Given the description of an element on the screen output the (x, y) to click on. 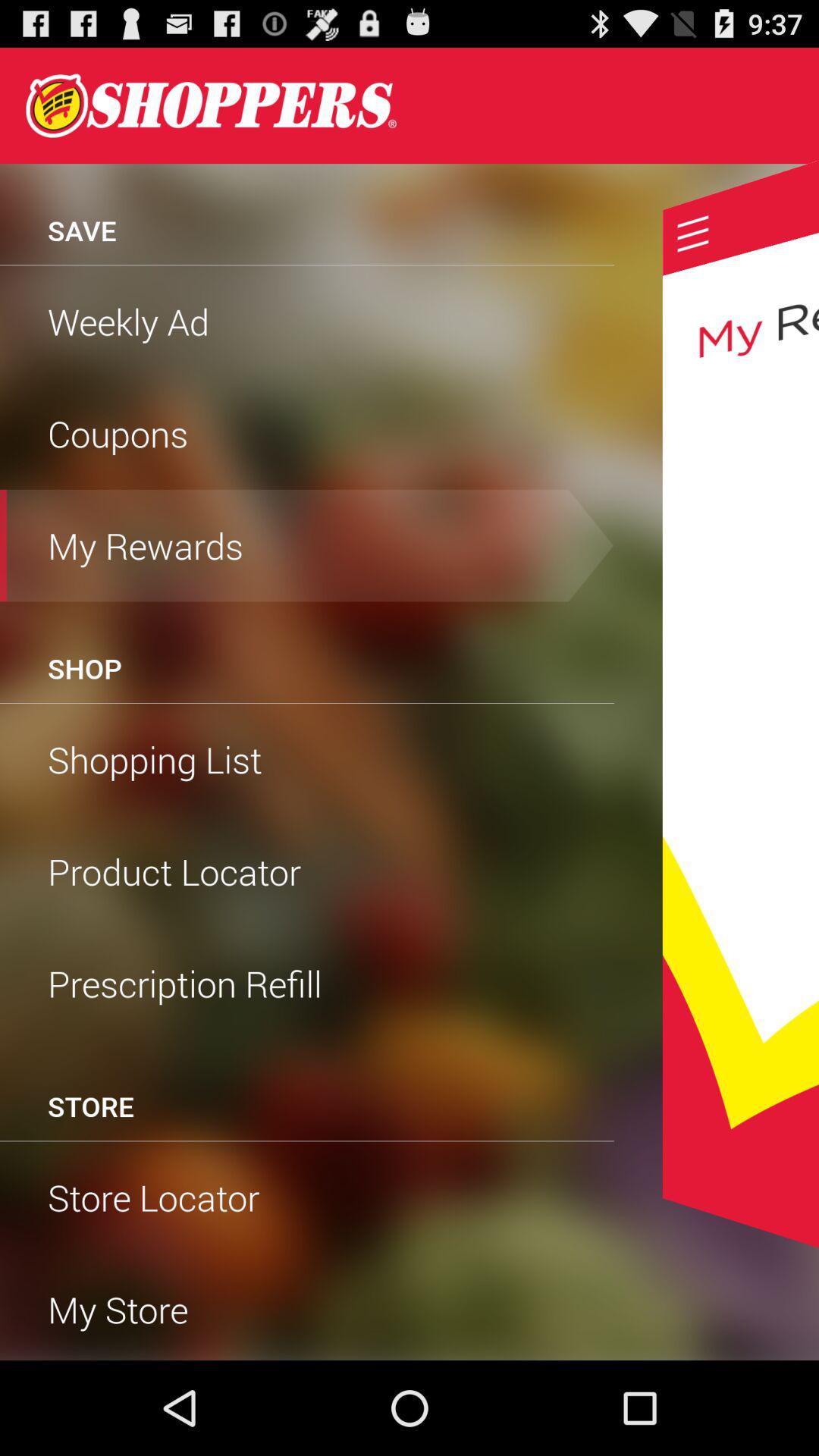
advertisement page (740, 703)
